Given the description of an element on the screen output the (x, y) to click on. 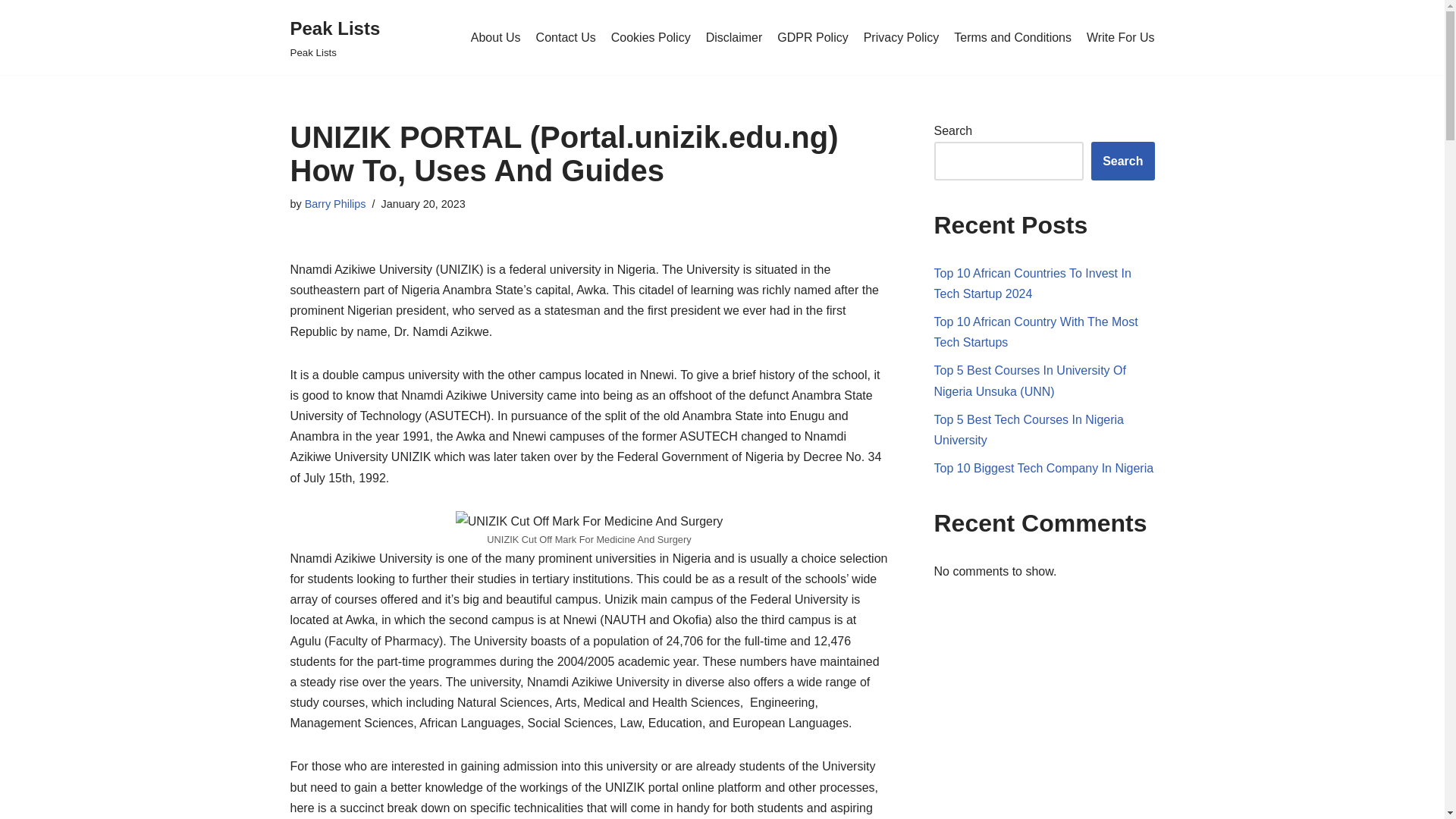
GDPR Policy (334, 37)
Cookies Policy (812, 37)
Skip to content (650, 37)
Search (11, 31)
Write For Us (1122, 160)
Top 10 African Country With The Most Tech Startups (1120, 37)
Top 10 African Countries To Invest In Tech Startup 2024 (1036, 331)
About Us (1032, 283)
Contact Us (495, 37)
